Given the description of an element on the screen output the (x, y) to click on. 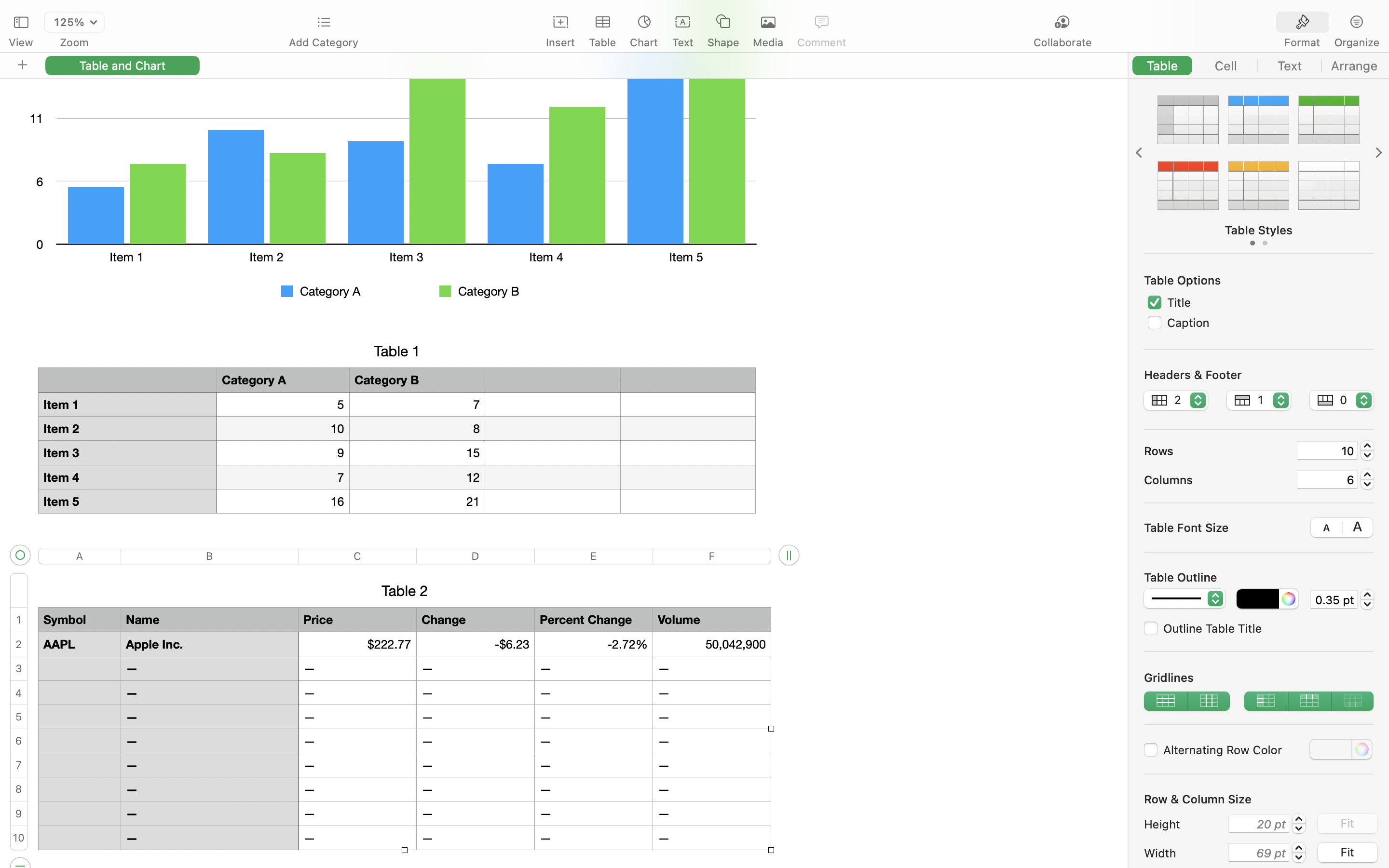
Add Category Element type: AXStaticText (322, 42)
Table Outline Element type: AXStaticText (1180, 576)
6.0 Element type: AXIncrementor (1367, 478)
Format Element type: AXStaticText (1302, 42)
Table Options Element type: AXStaticText (1182, 279)
